Given the description of an element on the screen output the (x, y) to click on. 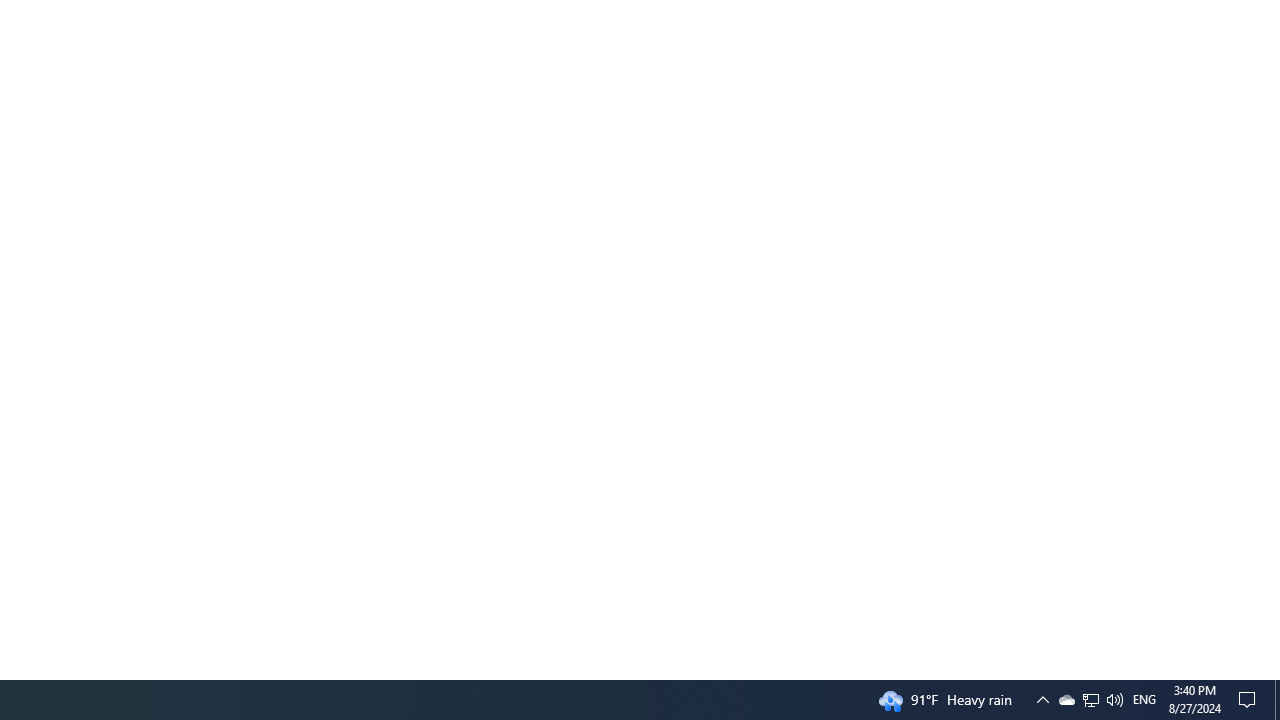
Action Center, No new notifications (1250, 699)
Tray Input Indicator - English (United States) (1091, 699)
User Promoted Notification Area (1144, 699)
Show desktop (1090, 699)
Notification Chevron (1277, 699)
Q2790: 100% (1042, 699)
